Given the description of an element on the screen output the (x, y) to click on. 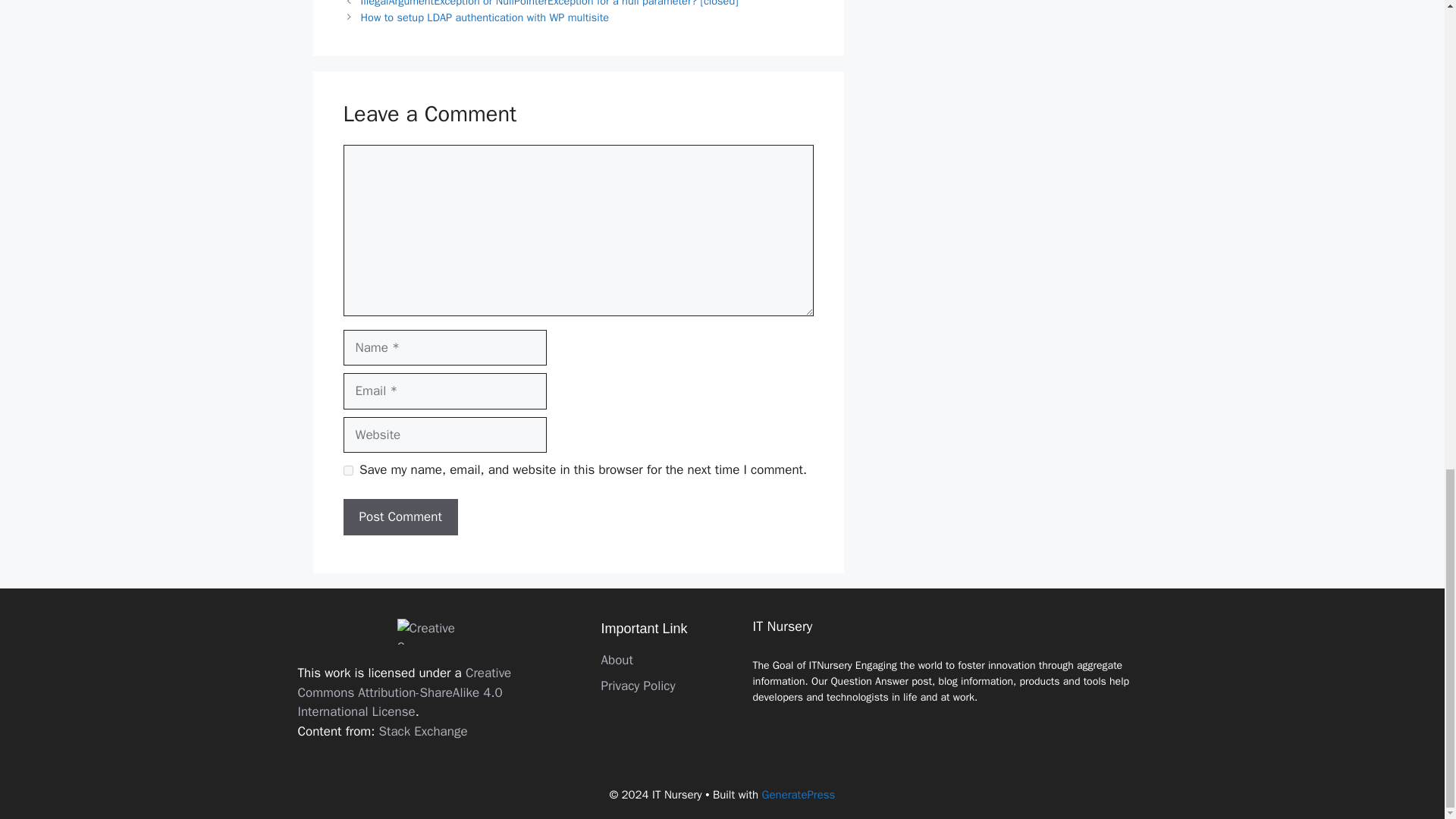
Post Comment (399, 516)
How to setup LDAP authentication with WP multisite (485, 17)
Post Comment (399, 516)
Previous (549, 3)
yes (347, 470)
Next (485, 17)
